Given the description of an element on the screen output the (x, y) to click on. 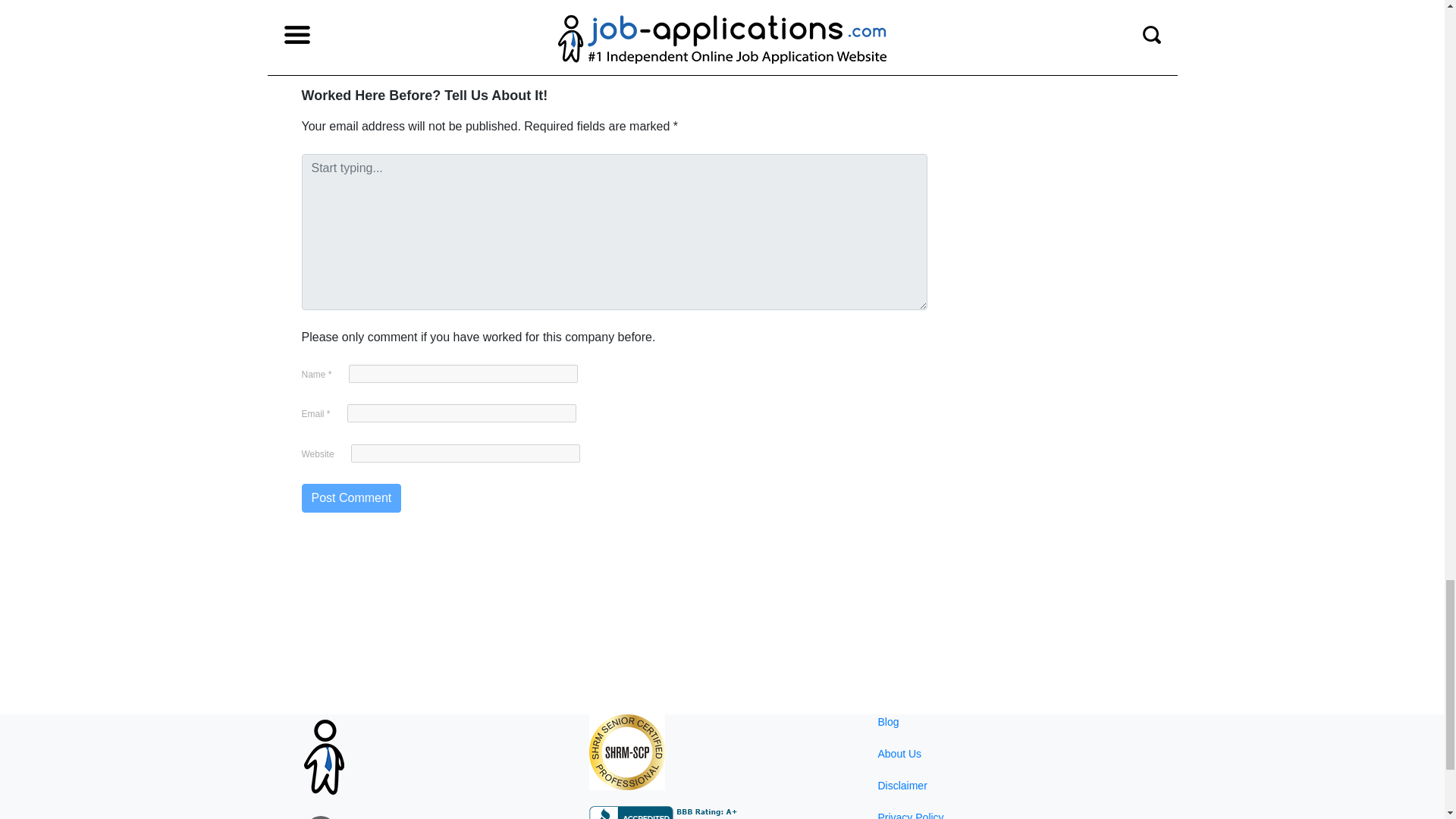
Blog (887, 721)
Post Comment (351, 498)
Post Comment (351, 498)
Disclaimer (901, 785)
About Us (899, 753)
Privacy Policy (910, 815)
